Given the description of an element on the screen output the (x, y) to click on. 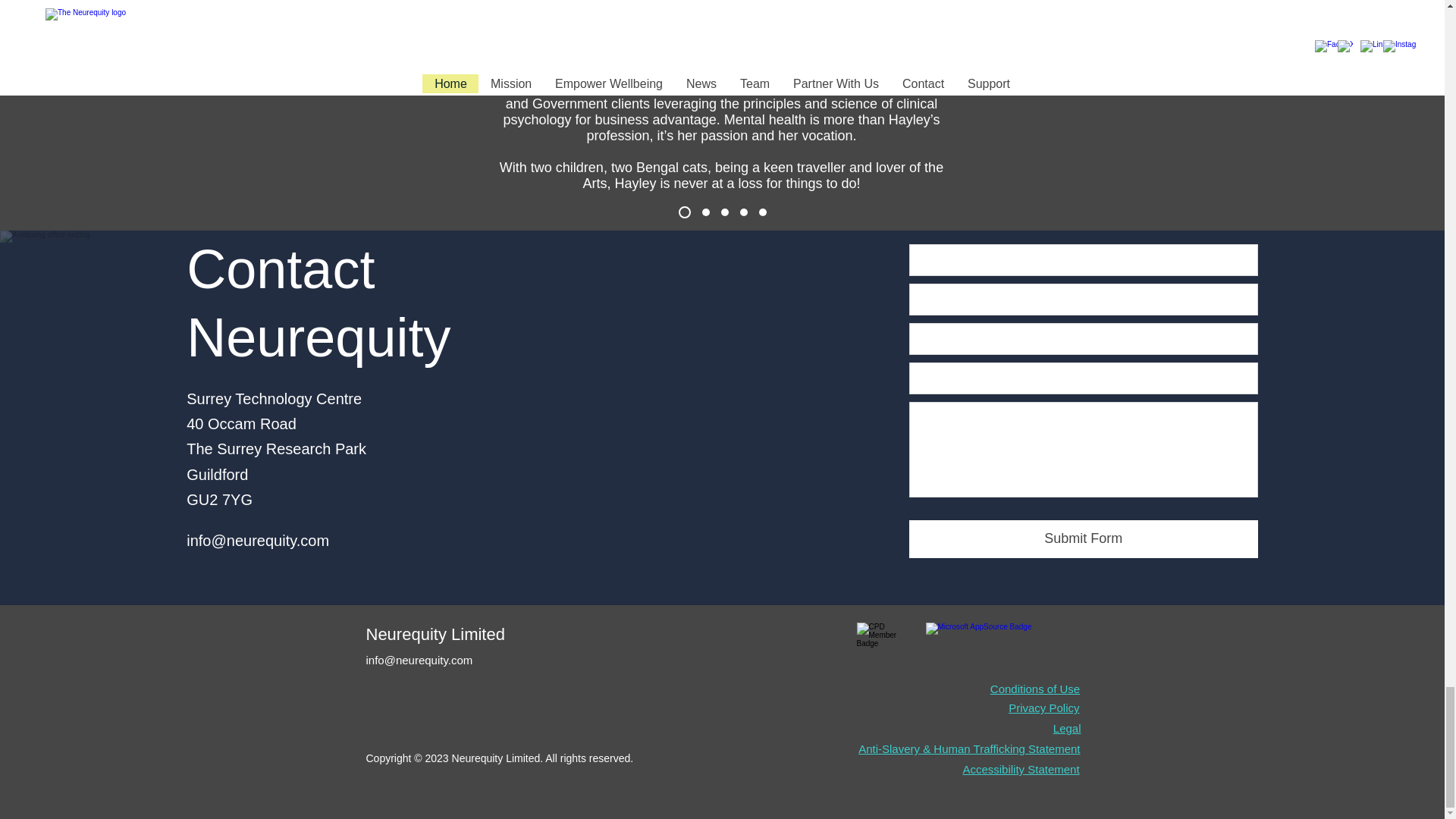
CPDMember-logo-1.JPG (884, 648)
Conditions of Use (1035, 688)
Submit Form (1082, 538)
Neurequity Limited (434, 633)
